Given the description of an element on the screen output the (x, y) to click on. 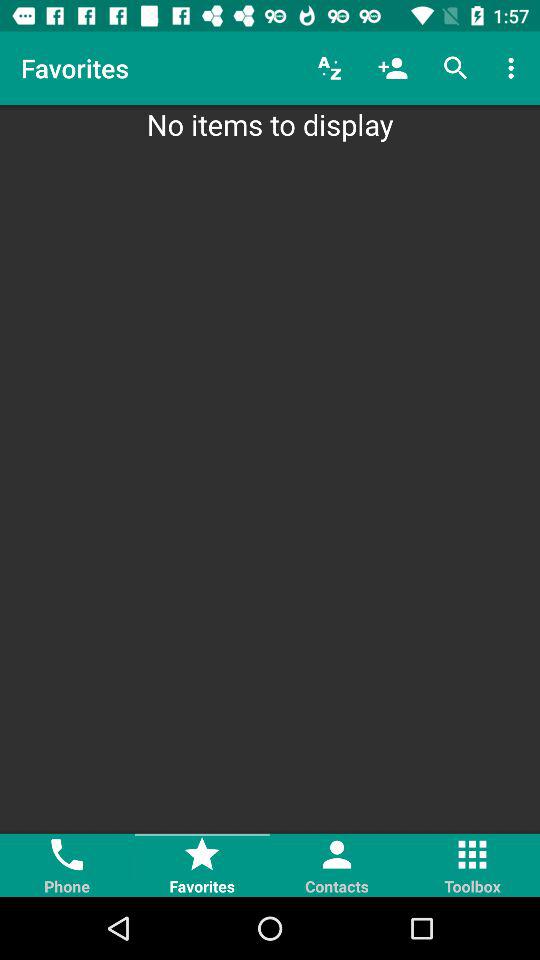
select icon next to favorites item (329, 67)
